Given the description of an element on the screen output the (x, y) to click on. 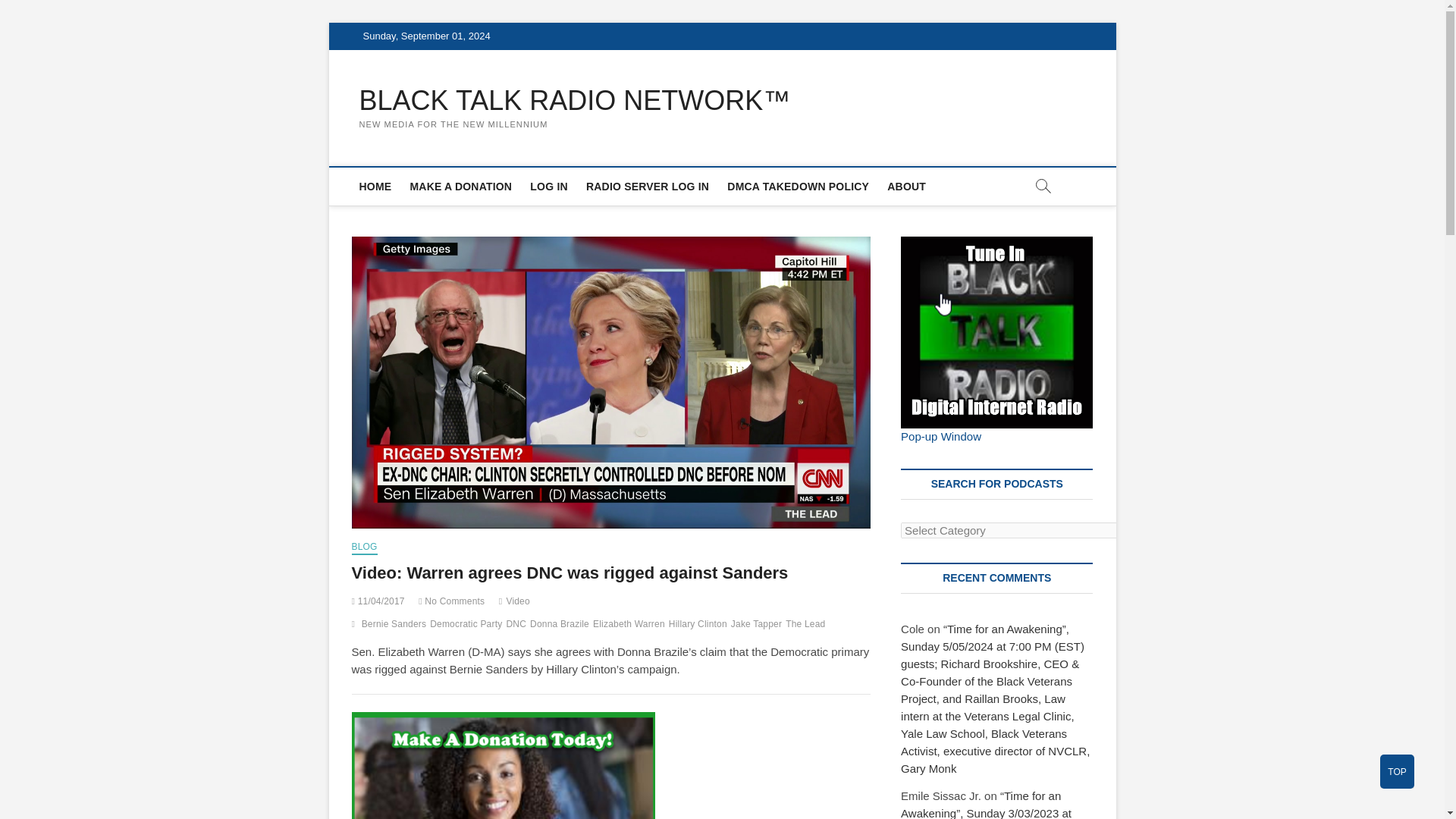
RADIO SERVER LOG IN (647, 186)
Log In And Manage Your Digital Station (647, 186)
ABOUT (906, 186)
LOG IN (548, 186)
HOME (375, 186)
MAKE A DONATION (460, 186)
DMCA TAKEDOWN POLICY (797, 186)
